Given the description of an element on the screen output the (x, y) to click on. 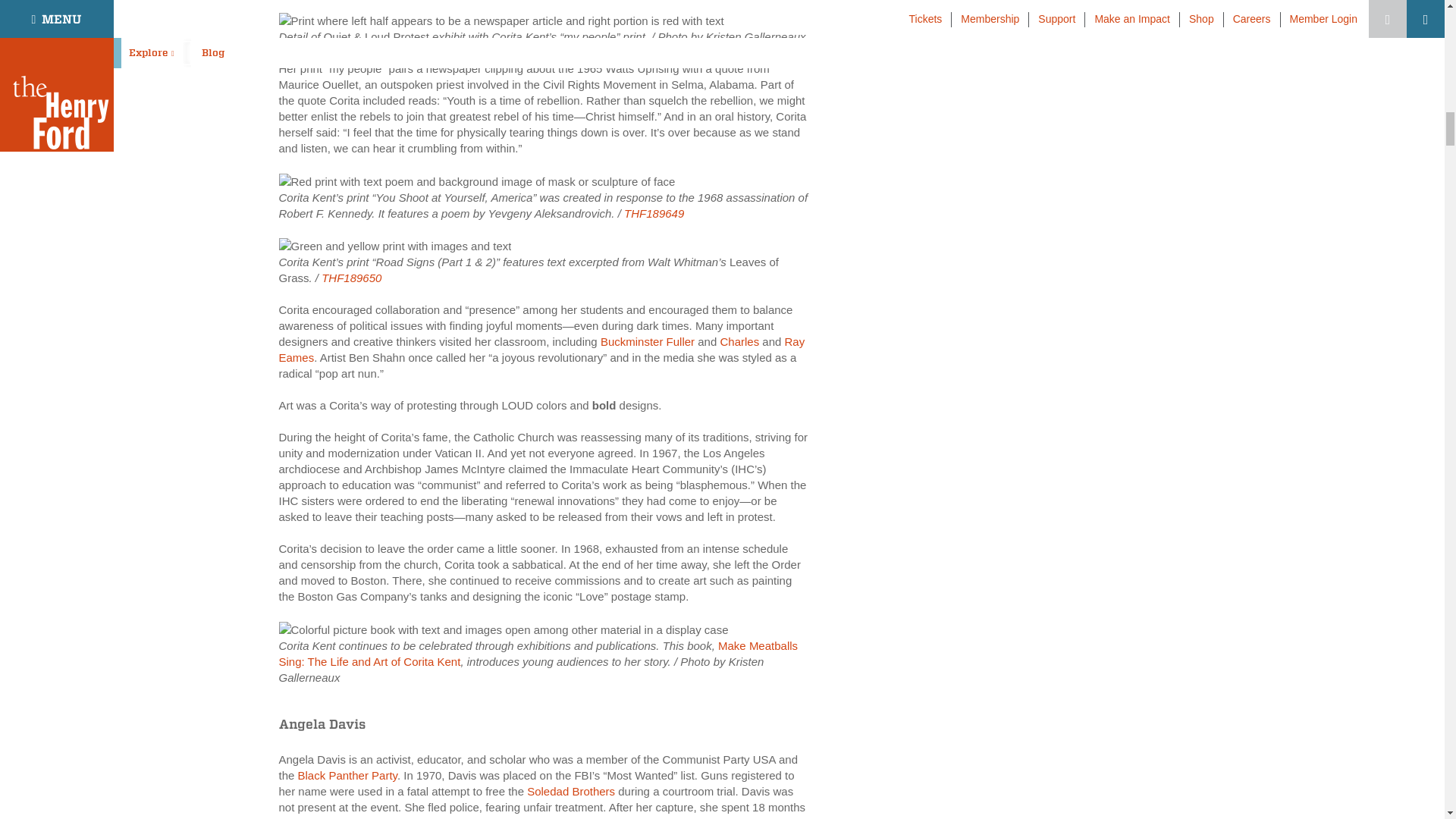
"Soledad Brothers" on Wikipedia (570, 790)
See artifacts related to the Black Panther Party (347, 775)
See artifacts related to Ray Eames (542, 348)
See artifacts related to Buckminster Fuller (646, 341)
Corita Kent print "my people" (501, 20)
See artifacts related to Charles Eames (738, 341)
Make Meatballs Sing: The Life and Art of Corita Kent (504, 629)
